Given the description of an element on the screen output the (x, y) to click on. 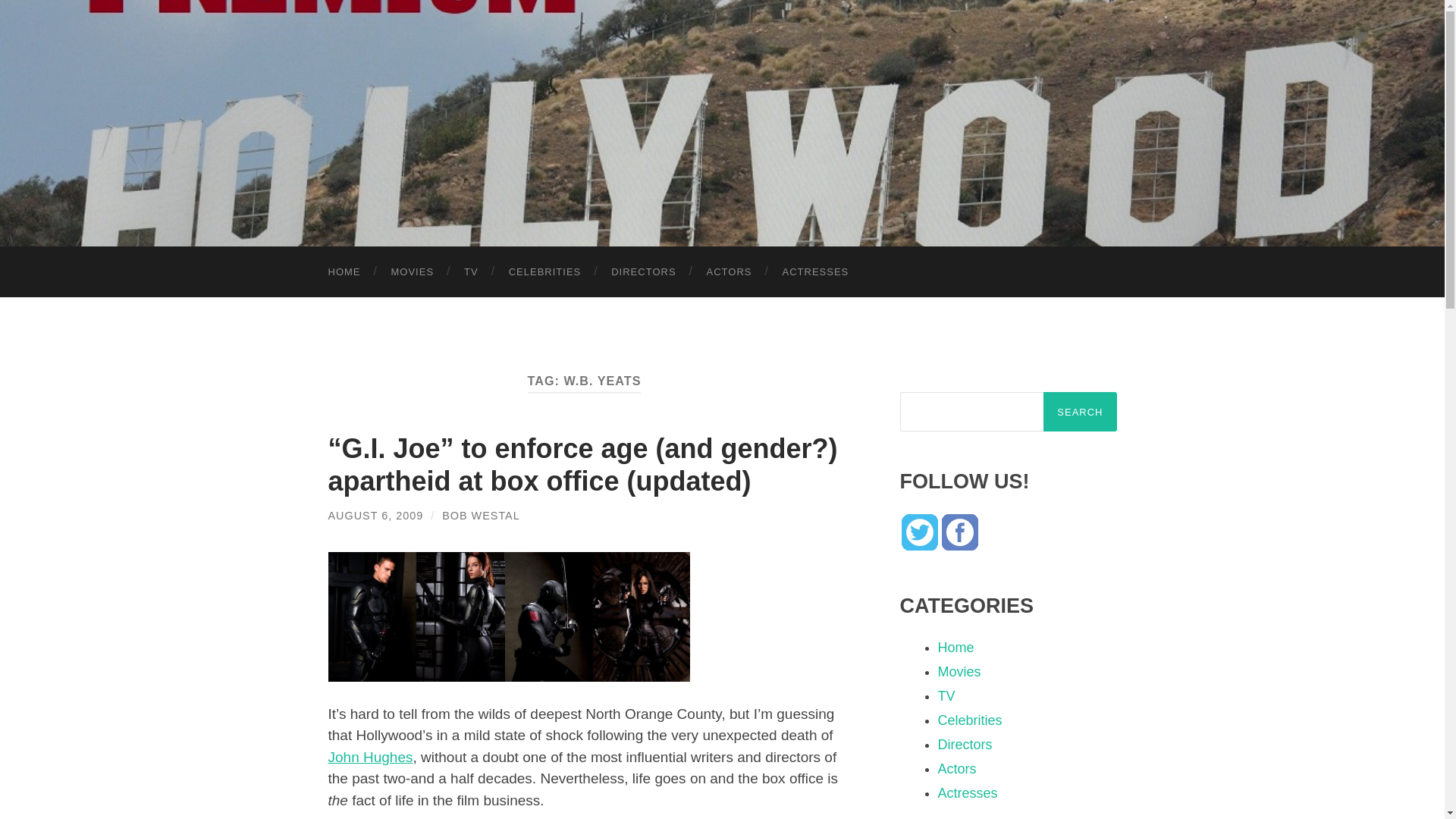
BOB WESTAL (480, 515)
Search (1079, 411)
ACTORS (729, 271)
gi-joe-rise-of-cobra (507, 616)
AUGUST 6, 2009 (375, 515)
John Hughes (369, 756)
MOVIES (412, 271)
Posts by Bob Westal (480, 515)
HOME (344, 271)
DIRECTORS (642, 271)
